Given the description of an element on the screen output the (x, y) to click on. 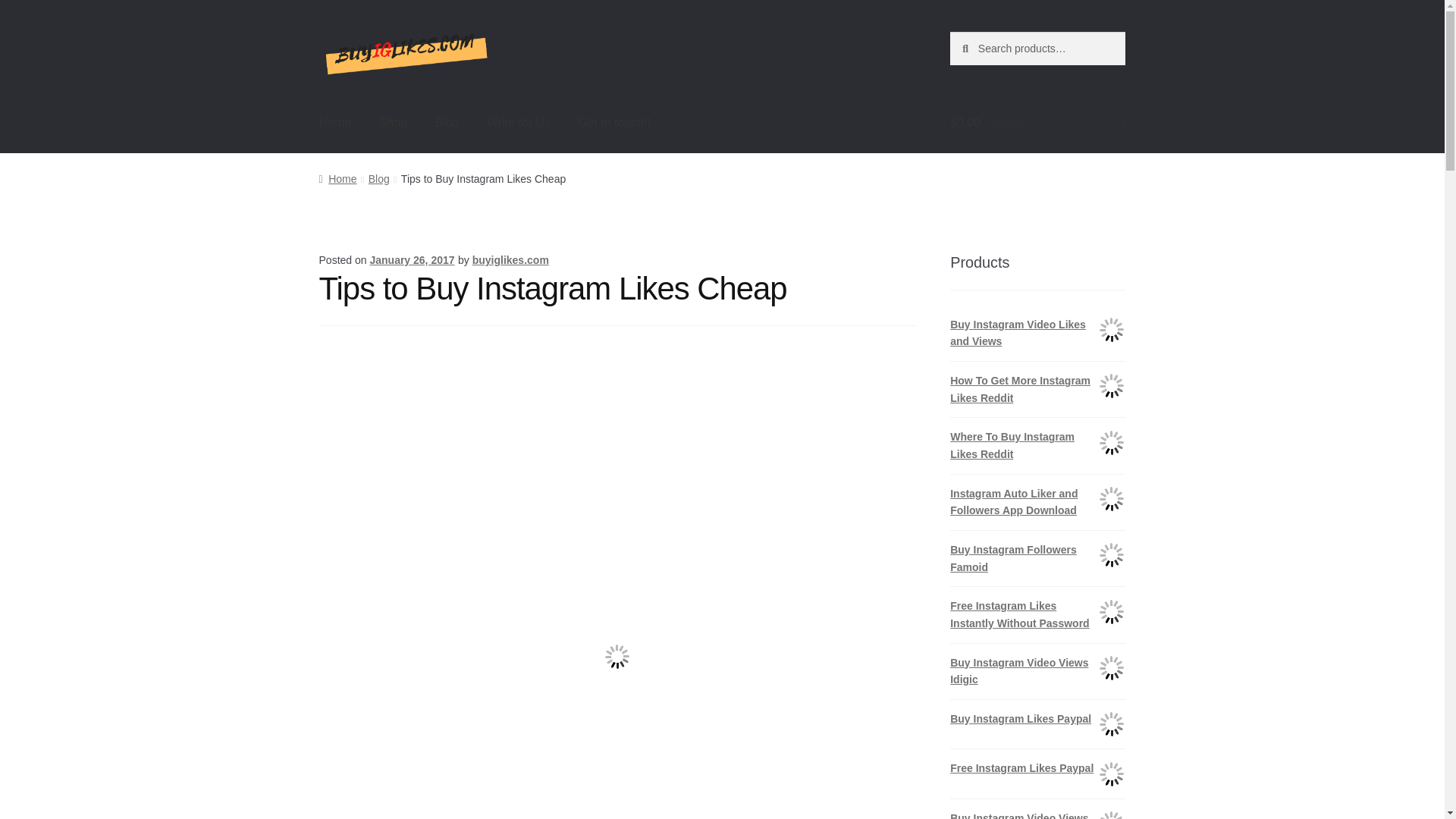
January 26, 2017 (411, 259)
Home (337, 178)
buyiglikes.com (509, 259)
Write for Us (518, 122)
Blog (379, 178)
View your shopping cart (1037, 122)
Home (335, 122)
Get in touch!! (614, 122)
